Given the description of an element on the screen output the (x, y) to click on. 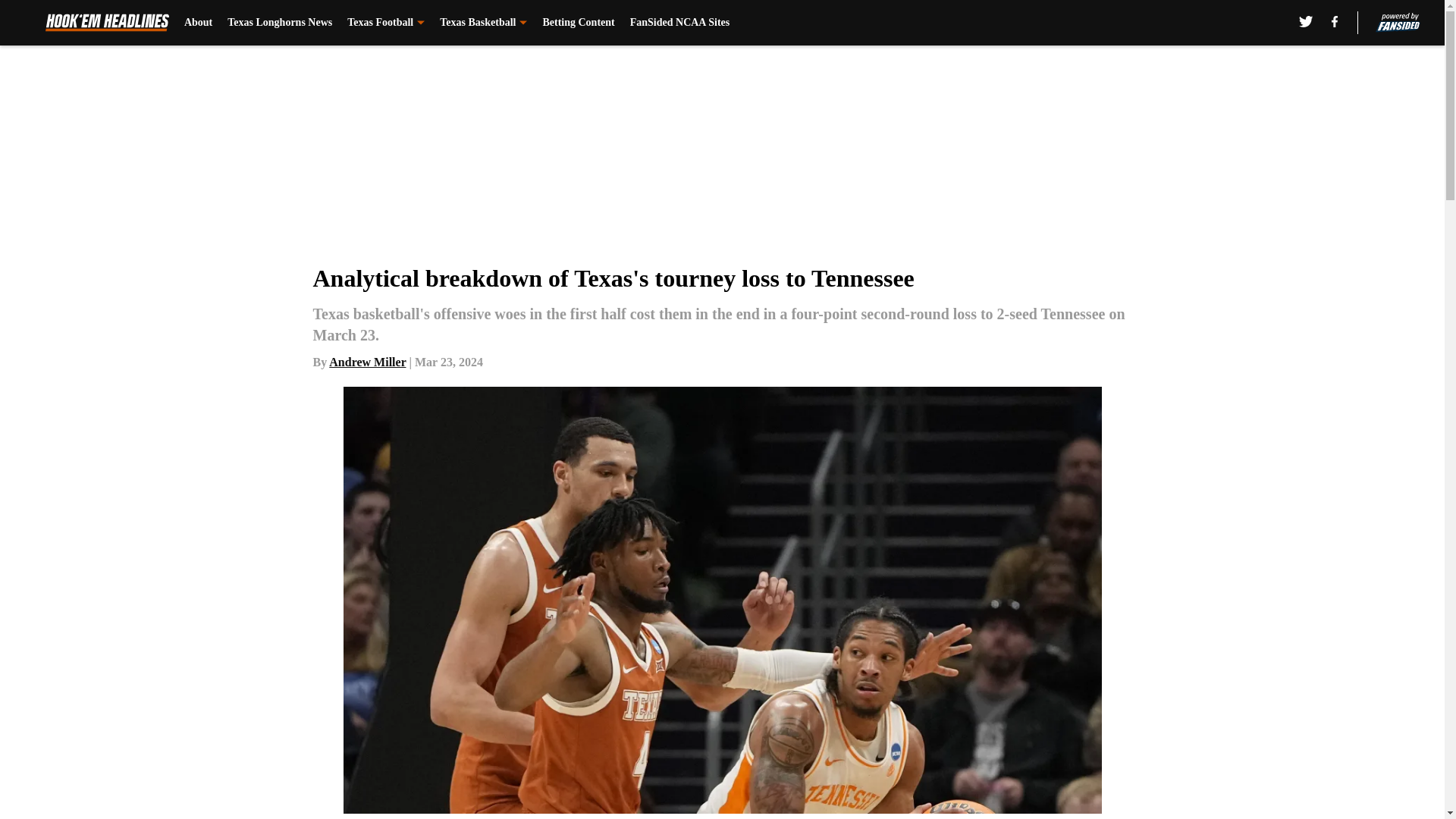
Betting Content (577, 22)
Texas Longhorns News (279, 22)
FanSided NCAA Sites (679, 22)
Andrew Miller (367, 361)
About (198, 22)
